Given the description of an element on the screen output the (x, y) to click on. 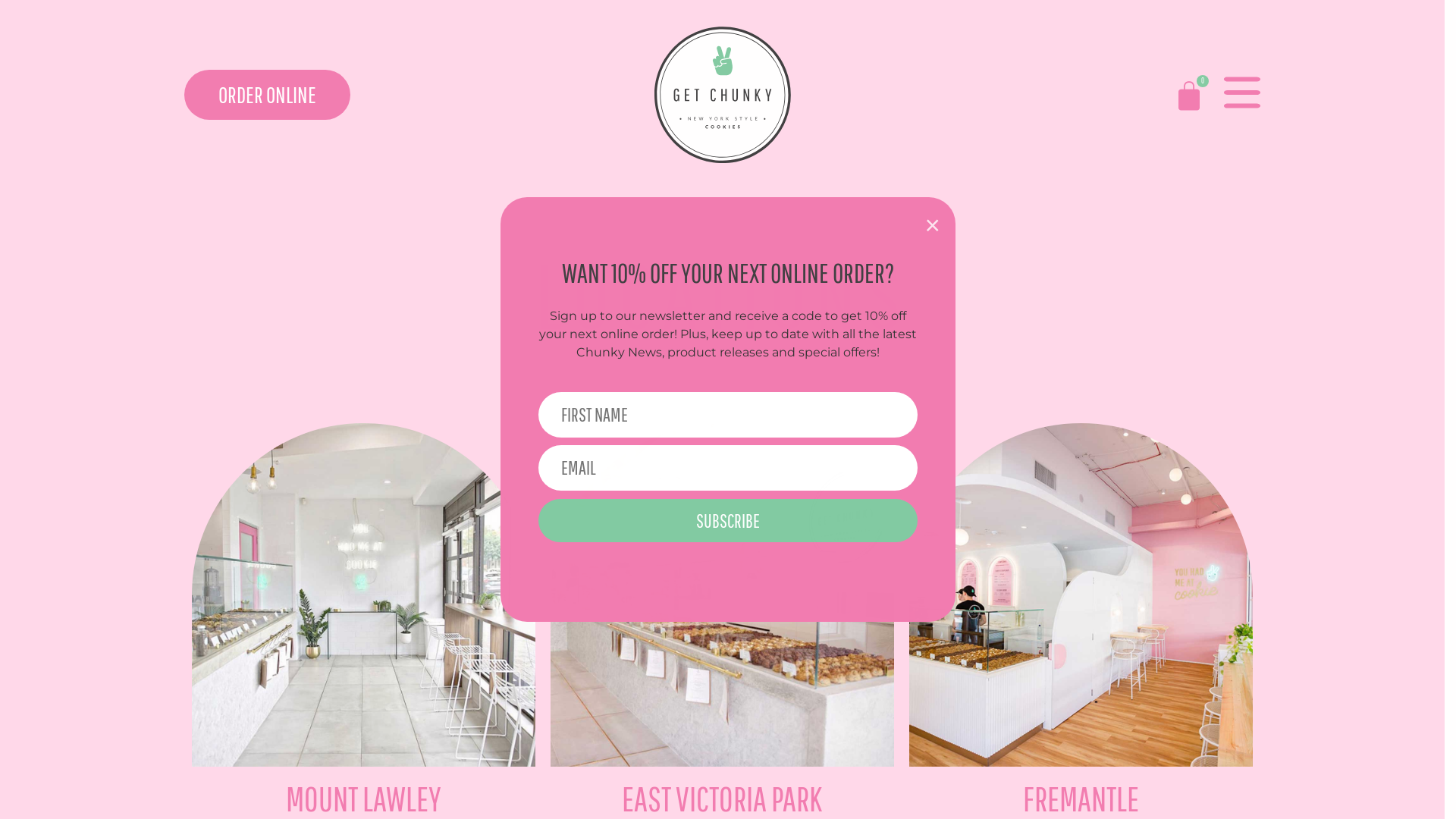
SUBSCRIBE Element type: text (727, 520)
ORDER ONLINE Element type: text (266, 94)
0 Element type: text (1188, 94)
